Given the description of an element on the screen output the (x, y) to click on. 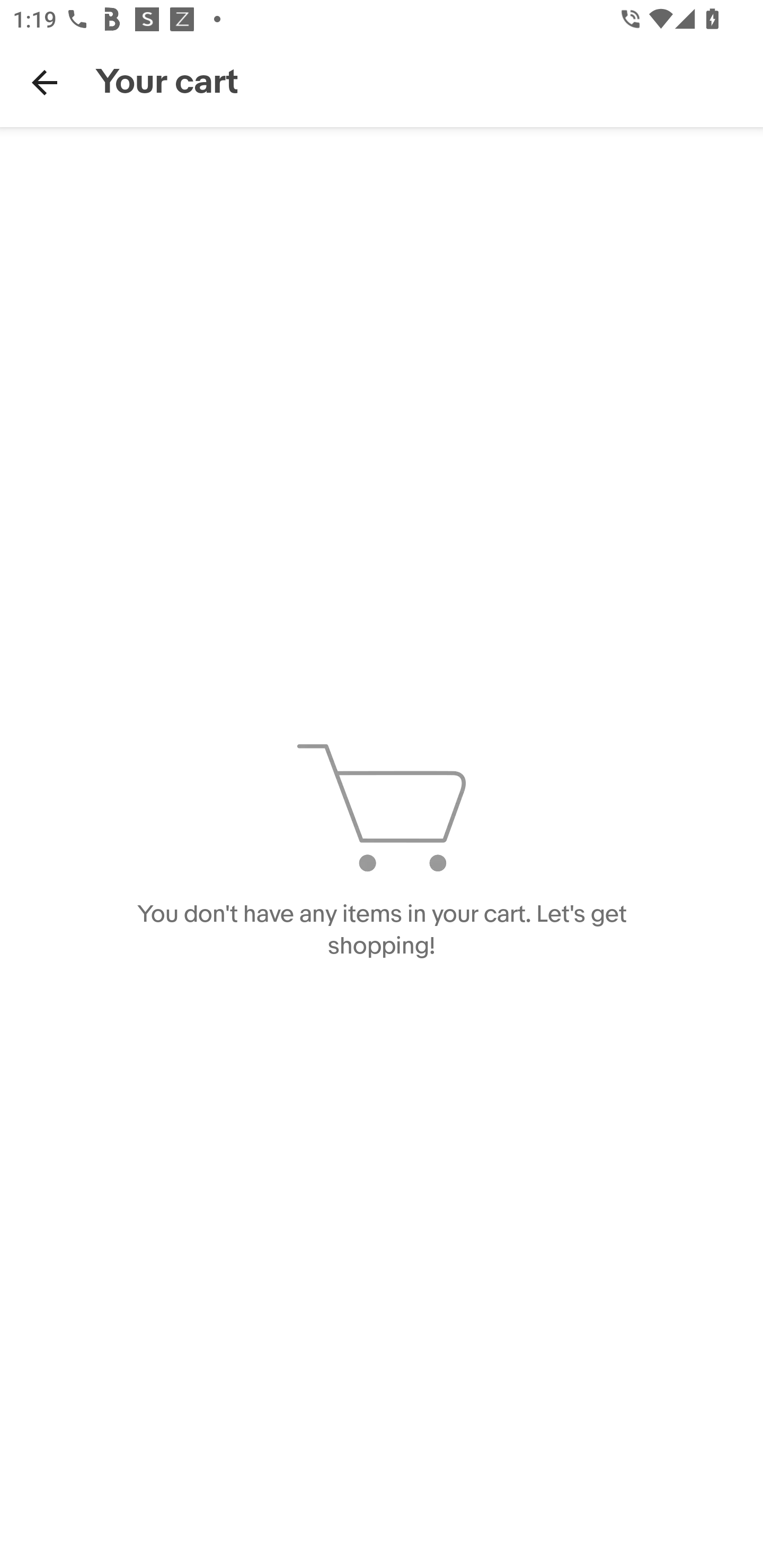
Navigate up (44, 82)
